Given the description of an element on the screen output the (x, y) to click on. 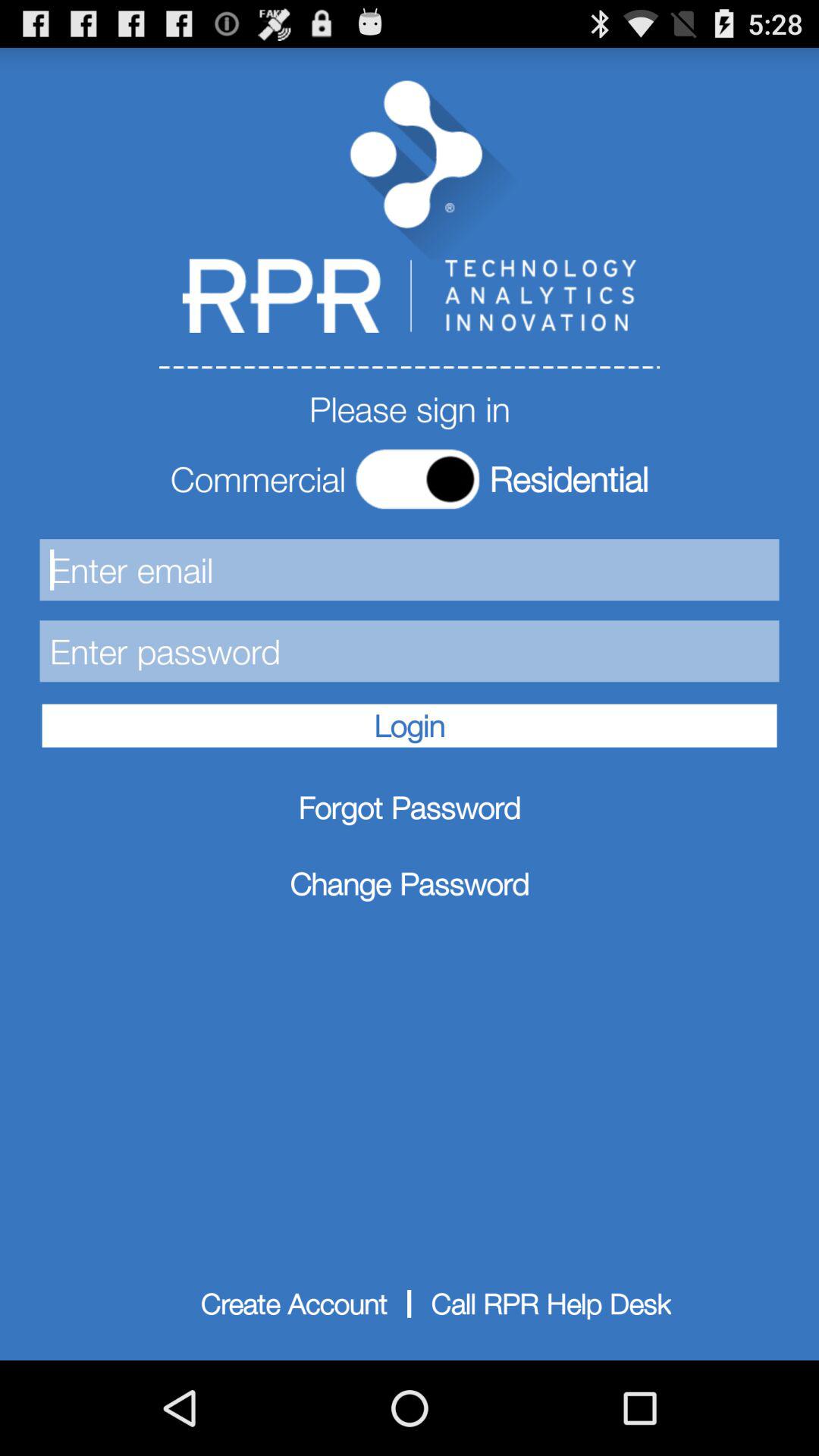
click on the second text feed (409, 650)
select the first text box (409, 568)
select the text left to call rpr help desk (293, 1303)
click on option below forgot password (409, 883)
